Given the description of an element on the screen output the (x, y) to click on. 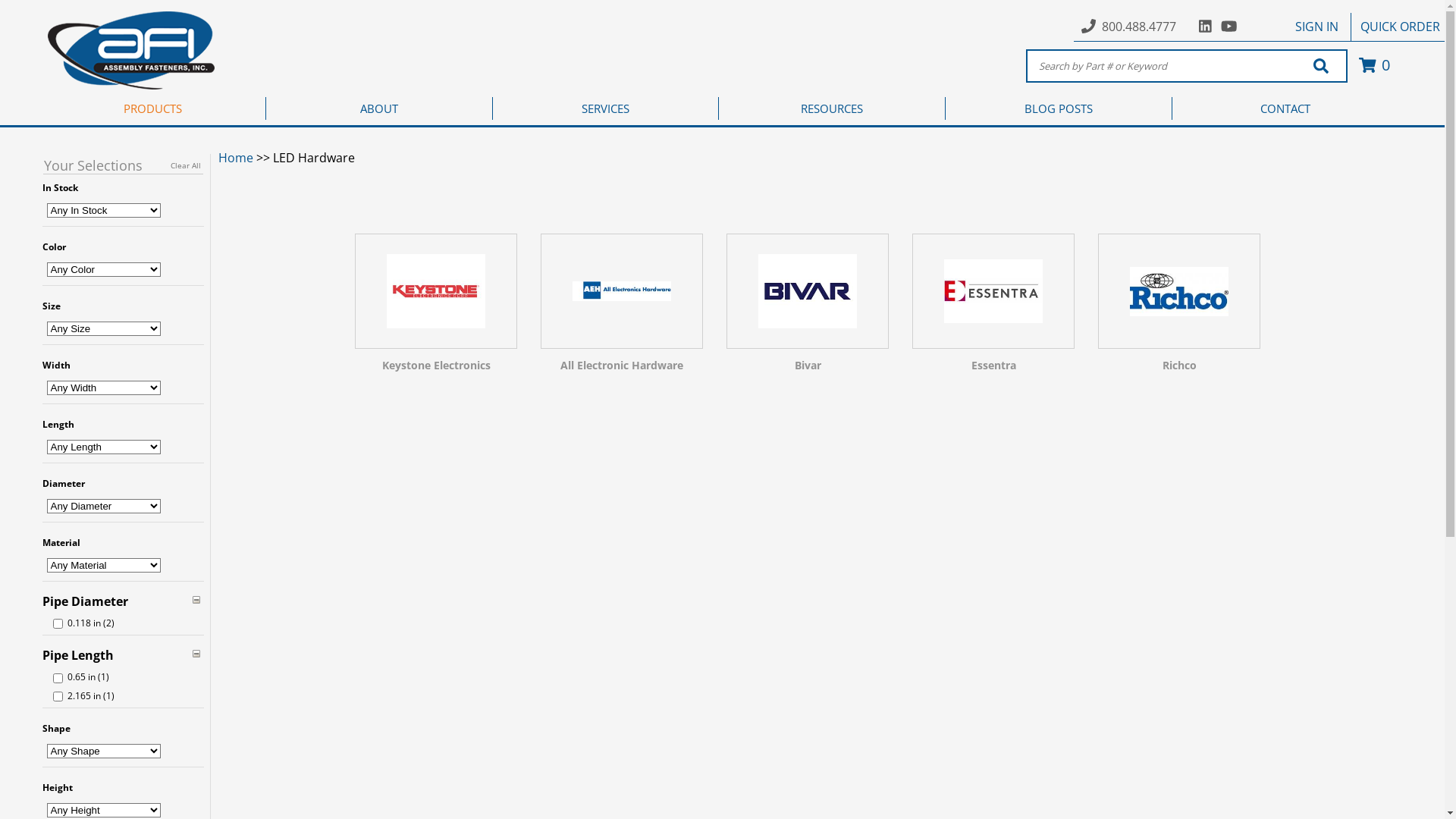
QUICK ORDER Element type: text (1400, 26)
0@@2e118 in Element type: text (57, 623)
Click to collapse Element type: hover (196, 599)
CONTACT Element type: text (1285, 108)
RESOURCES Element type: text (831, 108)
0 Element type: text (1372, 65)
SIGN IN Element type: text (1316, 26)
Richco Element type: text (1179, 307)
Click to collapse Element type: hover (196, 653)
0@@2e65 in Element type: text (57, 678)
Keystone Electronics Element type: text (436, 307)
Clear All Element type: text (184, 164)
800.488.4777 Element type: text (1138, 26)
SERVICES Element type: text (605, 108)
BLOG POSTS Element type: text (1058, 108)
All Electronic Hardware Element type: text (621, 307)
ABOUT Element type: text (379, 108)
Essentra Element type: text (992, 307)
Home Element type: text (235, 157)
2@@2e165 in Element type: text (57, 696)
Bivar Element type: text (807, 307)
PRODUCTS Element type: text (152, 108)
